Given the description of an element on the screen output the (x, y) to click on. 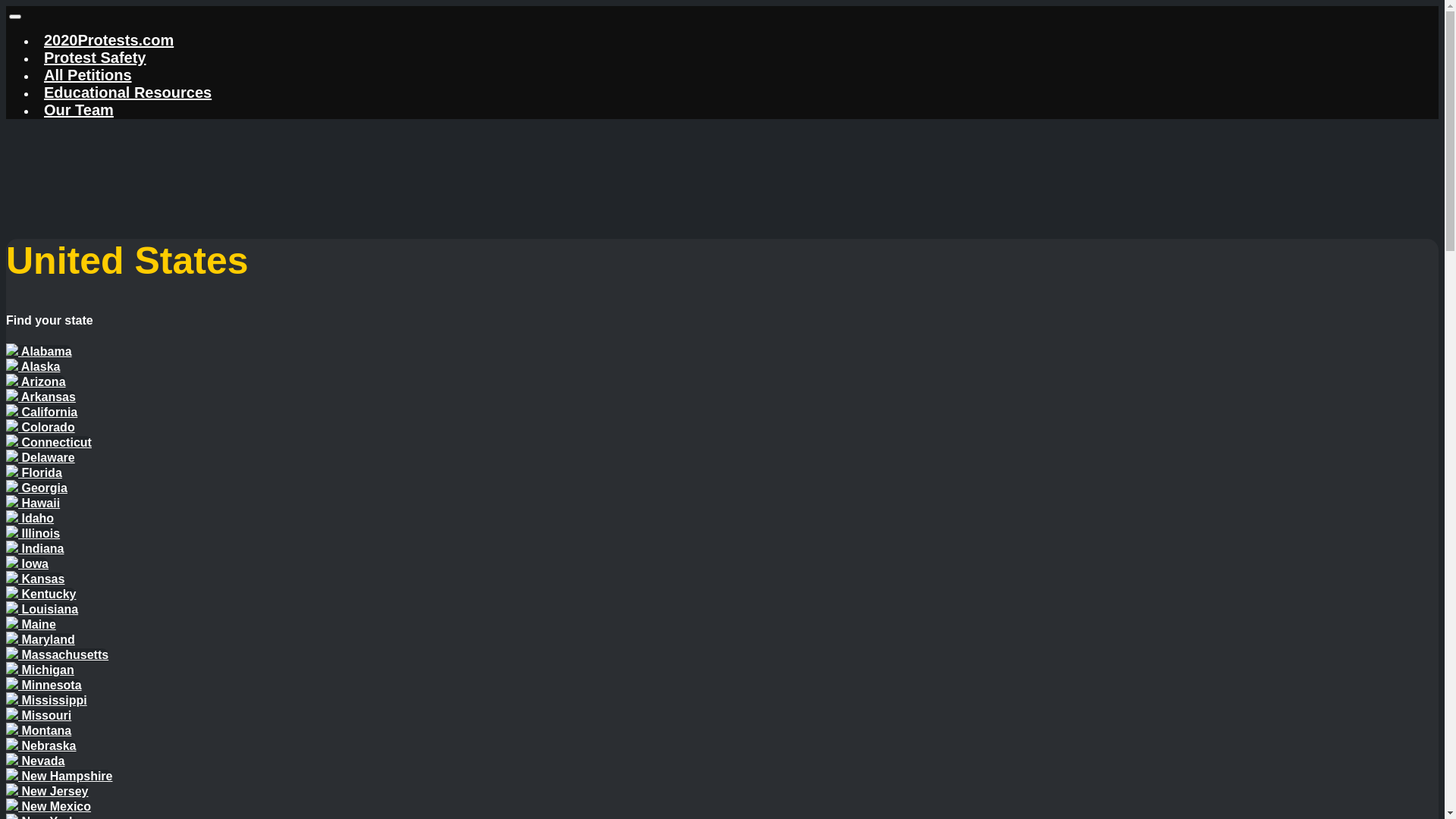
Florida Element type: text (34, 472)
Nevada Element type: text (35, 760)
Protest Safety Element type: text (94, 57)
Indiana Element type: text (34, 548)
Minnesota Element type: text (43, 684)
Massachusetts Element type: text (57, 654)
Connecticut Element type: text (48, 442)
New Jersey Element type: text (47, 790)
All Petitions Element type: text (87, 74)
Illinois Element type: text (32, 533)
Louisiana Element type: text (42, 608)
Maryland Element type: text (40, 639)
Arizona Element type: text (35, 381)
Georgia Element type: text (36, 487)
Kansas Element type: text (35, 578)
Delaware Element type: text (40, 457)
Arkansas Element type: text (40, 396)
Hawaii Element type: text (32, 502)
Alaska Element type: text (32, 366)
Colorado Element type: text (40, 426)
Nebraska Element type: text (41, 745)
2020Protests.com Element type: text (108, 39)
Maine Element type: text (31, 624)
Iowa Element type: text (27, 563)
Missouri Element type: text (38, 715)
Kentucky Element type: text (40, 593)
New Mexico Element type: text (48, 806)
Educational Resources Element type: text (127, 92)
Montana Element type: text (38, 730)
Idaho Element type: text (29, 517)
Mississippi Element type: text (46, 699)
Alabama Element type: text (39, 351)
Our Team Element type: text (78, 109)
California Element type: text (41, 411)
Michigan Element type: text (40, 669)
New Hampshire Element type: text (59, 775)
